Given the description of an element on the screen output the (x, y) to click on. 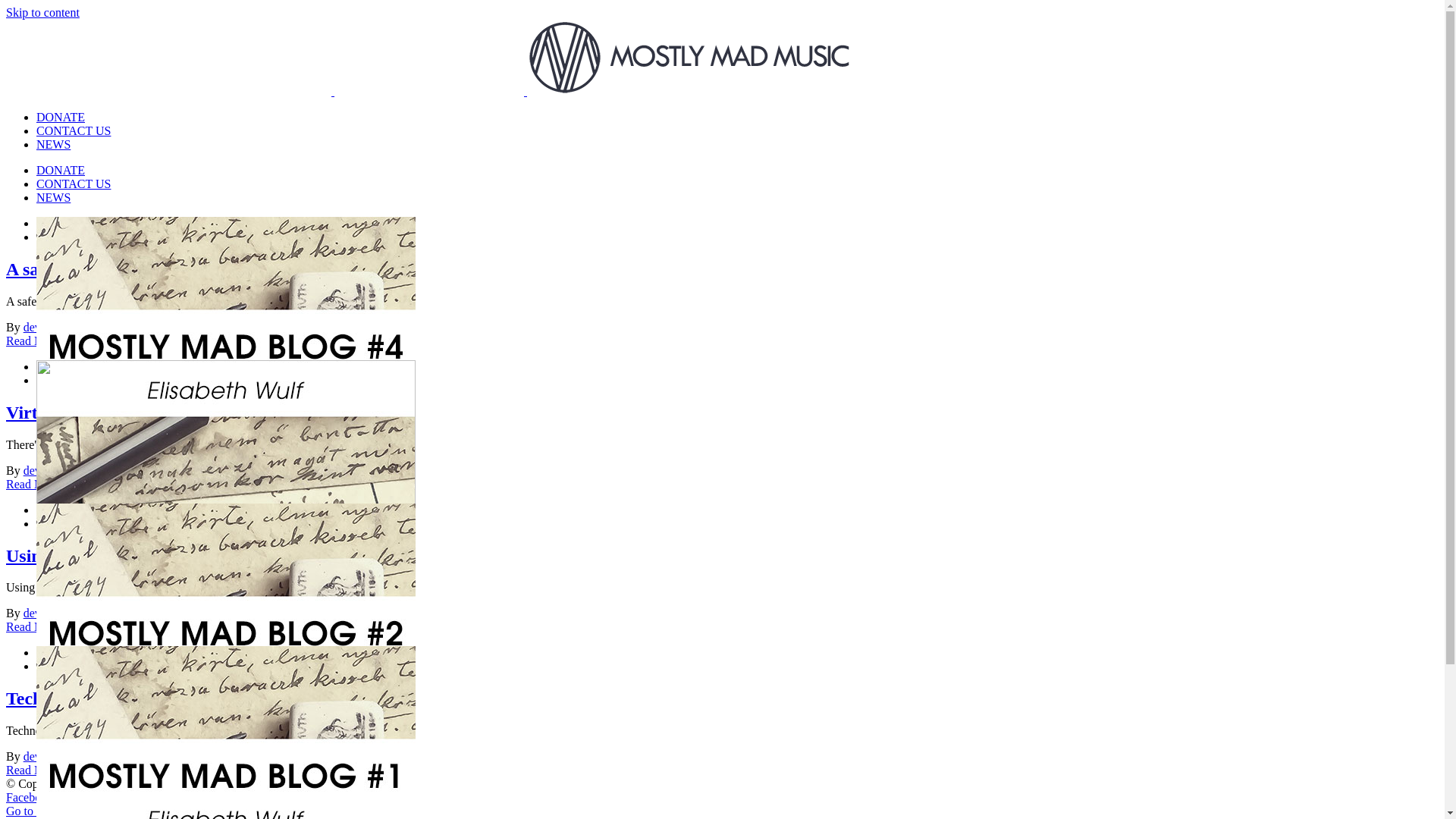
NEWS Element type: text (53, 144)
NEWS Element type: text (53, 197)
Spotify Element type: text (242, 796)
0 Comments Element type: text (262, 326)
CONTACT US Element type: text (73, 183)
devteam Element type: text (43, 326)
devteam Element type: text (43, 470)
Instagram Element type: text (77, 796)
Read More Element type: text (33, 340)
Go to Top Element type: text (30, 810)
Read More Element type: text (33, 769)
Read More Element type: text (33, 626)
devteam Element type: text (43, 612)
0 Comments Element type: text (263, 612)
A safe space for you on TikTok Element type: text (125, 269)
0 Comments Element type: text (256, 470)
Mostly Mad Blog Element type: text (193, 755)
0 Comments Element type: text (268, 755)
Read More Element type: text (33, 483)
Twitter Element type: text (207, 796)
Technostress: How music can help Element type: text (139, 698)
YouTube Element type: text (123, 796)
CONTACT US Element type: text (73, 130)
Mostly Mad Blog Element type: text (187, 612)
Mostly Mad Blog Element type: text (187, 326)
Skip to content Element type: text (42, 12)
A safe space for you on TikTok Element type: text (115, 531)
Using beats to break stigma Element type: text (113, 555)
Mostly Mad Blog Element type: text (79, 561)
LinkedIn Element type: text (167, 796)
Facebook Element type: text (29, 796)
DONATE Element type: text (60, 116)
Mostly Mad Blog Element type: text (180, 470)
DONATE Element type: text (60, 169)
Rss Element type: text (269, 796)
devteam Element type: text (43, 755)
Mostly Mad Blog Element type: text (79, 704)
